Given the description of an element on the screen output the (x, y) to click on. 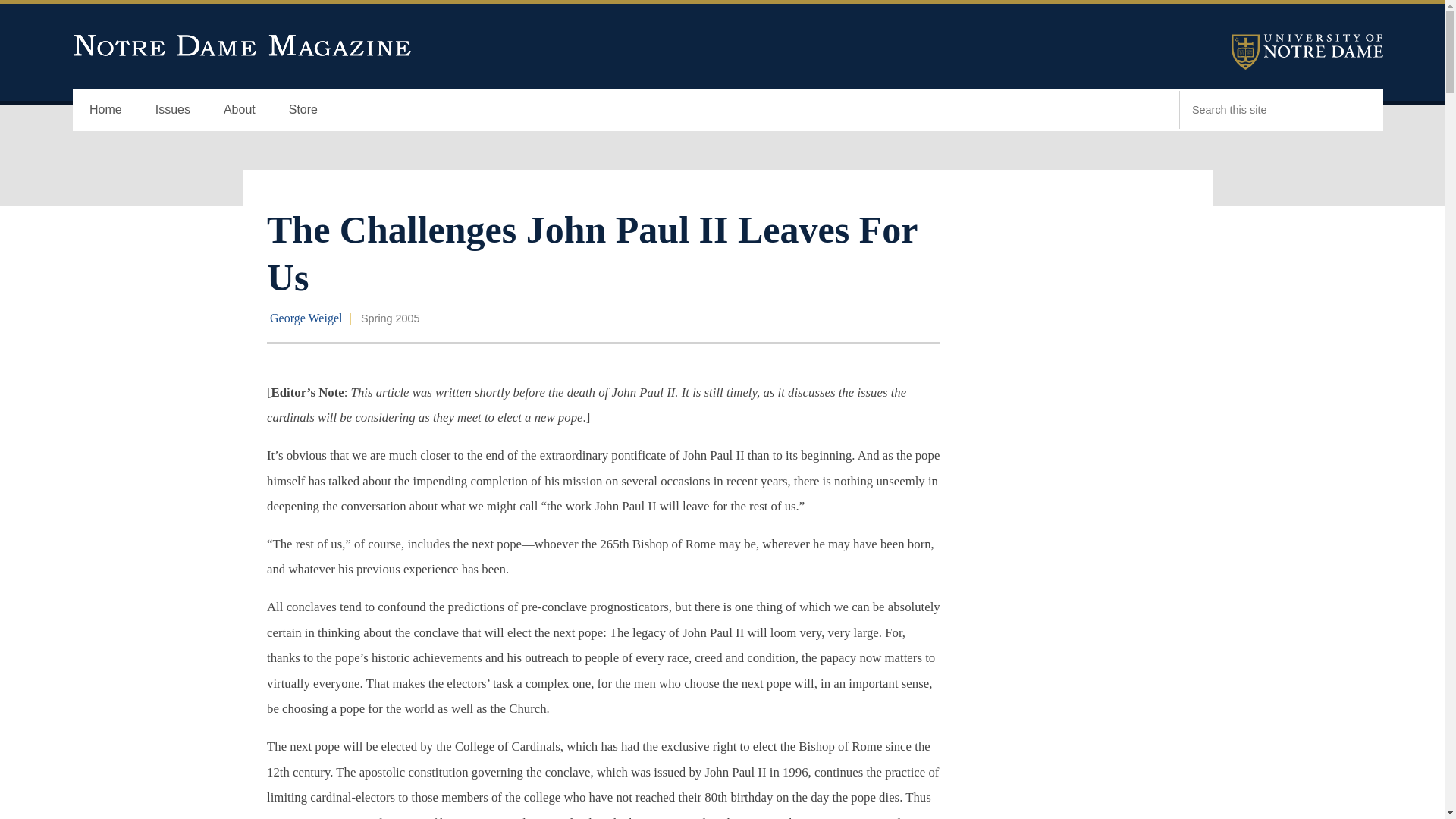
About (239, 109)
Home (105, 109)
type your search term (1259, 109)
University of Notre Dame (1307, 51)
Issues (172, 109)
George Weigel (305, 318)
Notre Dame Magazine (242, 46)
Store (303, 109)
